Given the description of an element on the screen output the (x, y) to click on. 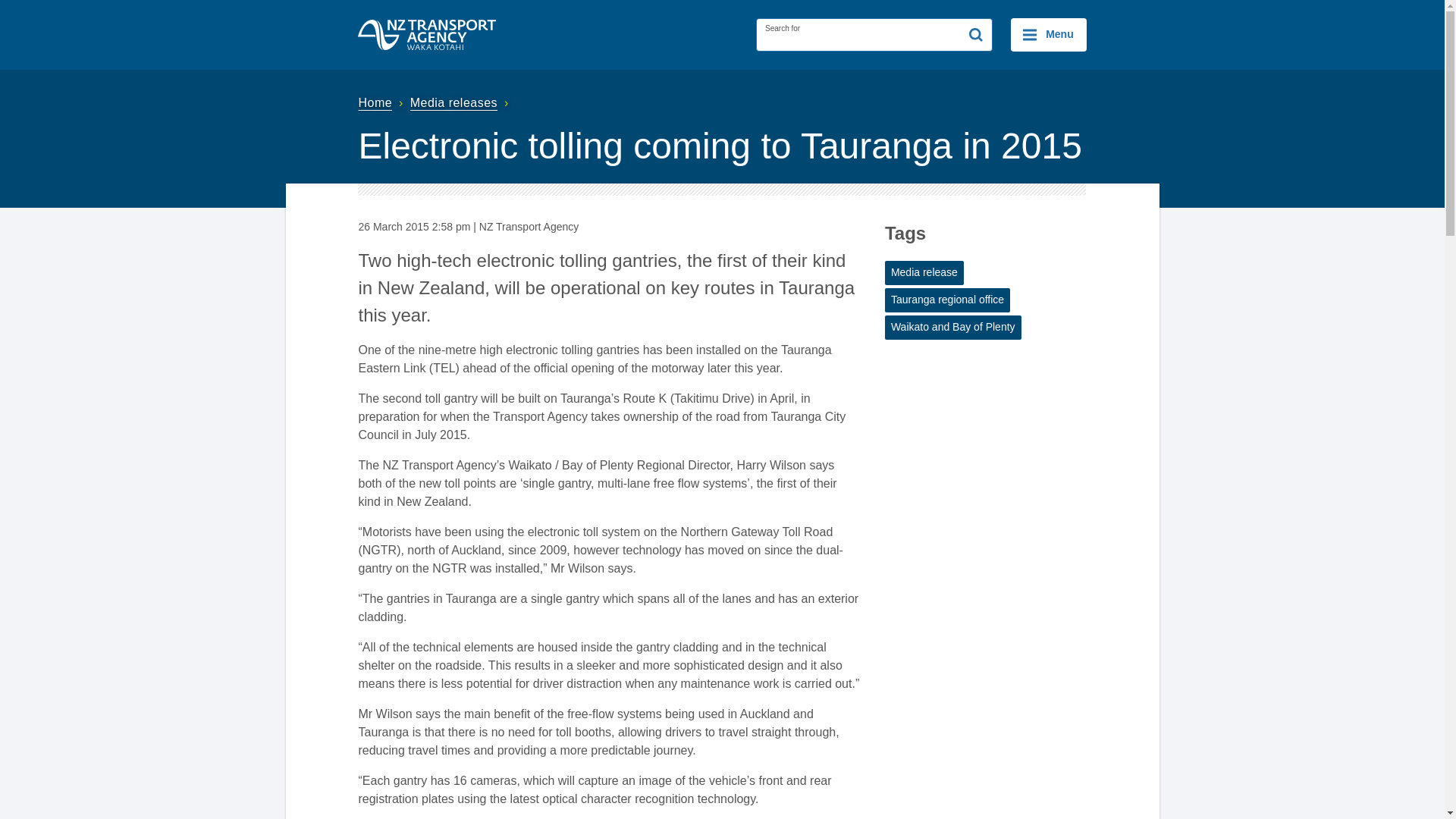
Media releases (461, 102)
Menu (1048, 34)
Home (382, 102)
View all posts tagged 'Media release' (924, 273)
View all posts tagged 'Waikato and Bay of Plenty' (953, 327)
NZ Transport Agency Waka Kotahi (427, 34)
View all posts tagged 'Tauranga regional office' (947, 300)
